Given the description of an element on the screen output the (x, y) to click on. 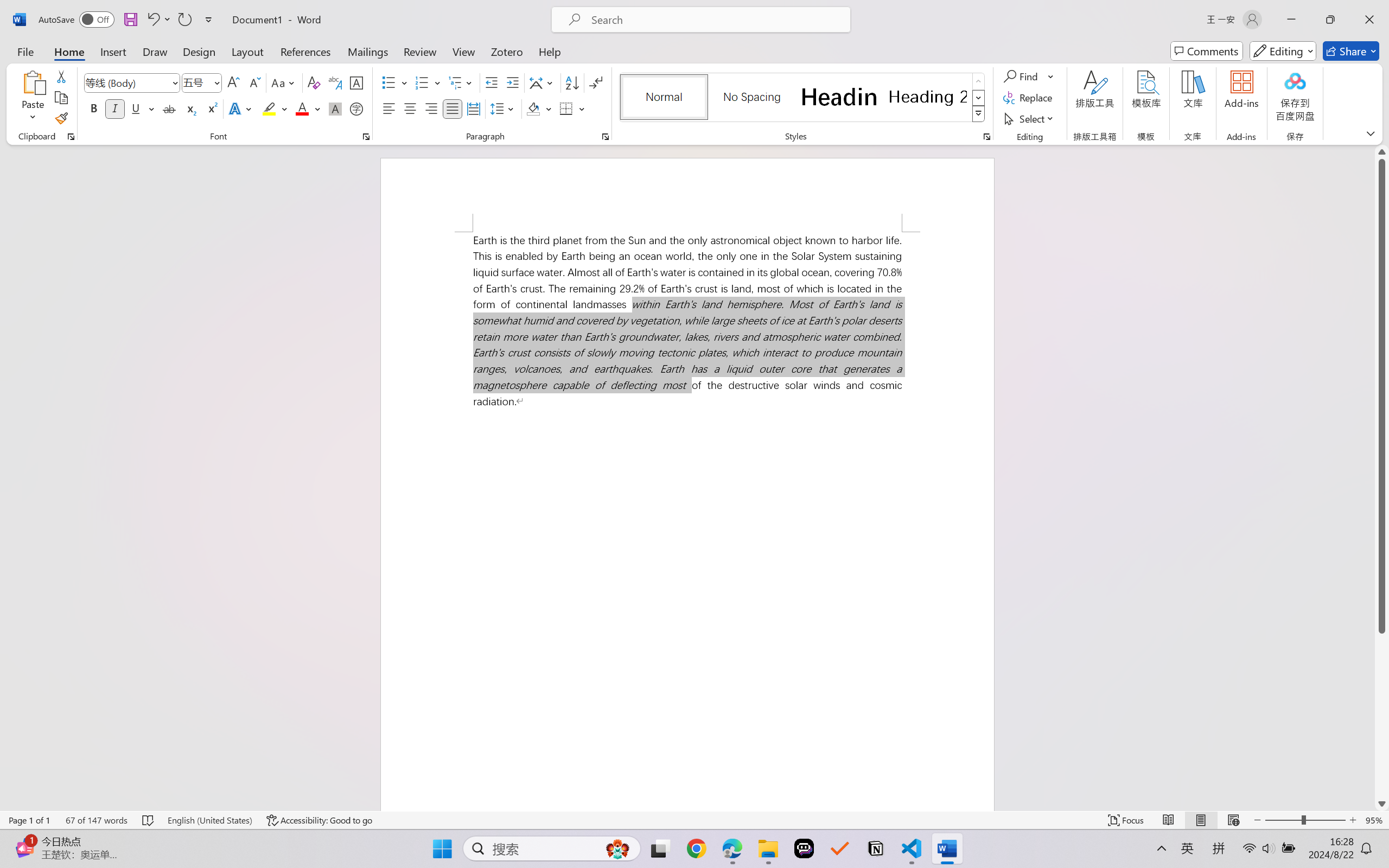
Line down (1382, 803)
Class: NetUIScrollBar (1382, 477)
Distributed (473, 108)
Undo Italic (158, 19)
Superscript (210, 108)
Help (549, 51)
Grow Font (233, 82)
Page Number Page 1 of 1 (29, 819)
